Given the description of an element on the screen output the (x, y) to click on. 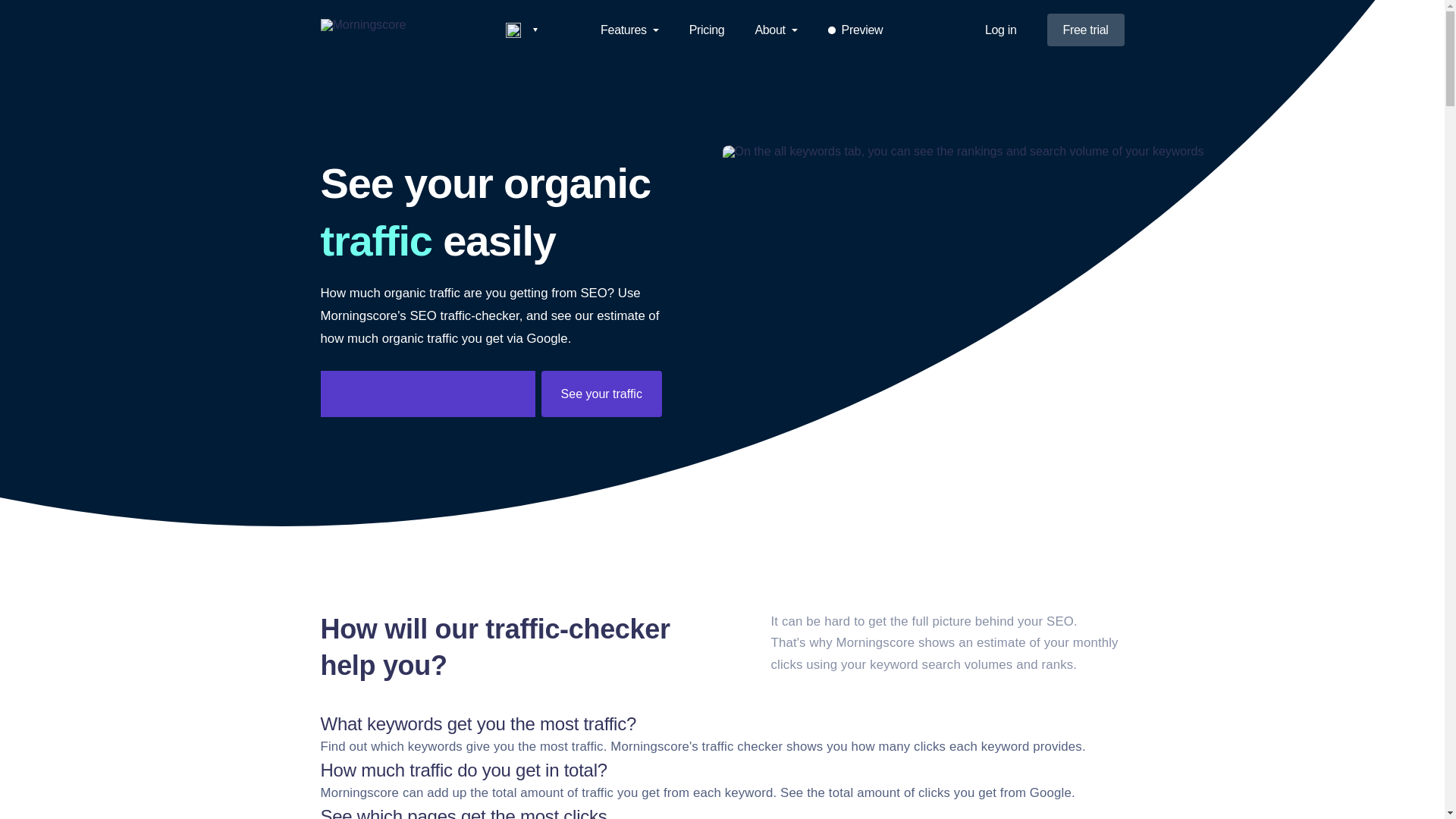
See your traffic (601, 393)
Pricing (706, 30)
Morningscore - SEO made simple (400, 30)
Features (629, 30)
About (775, 30)
